Given the description of an element on the screen output the (x, y) to click on. 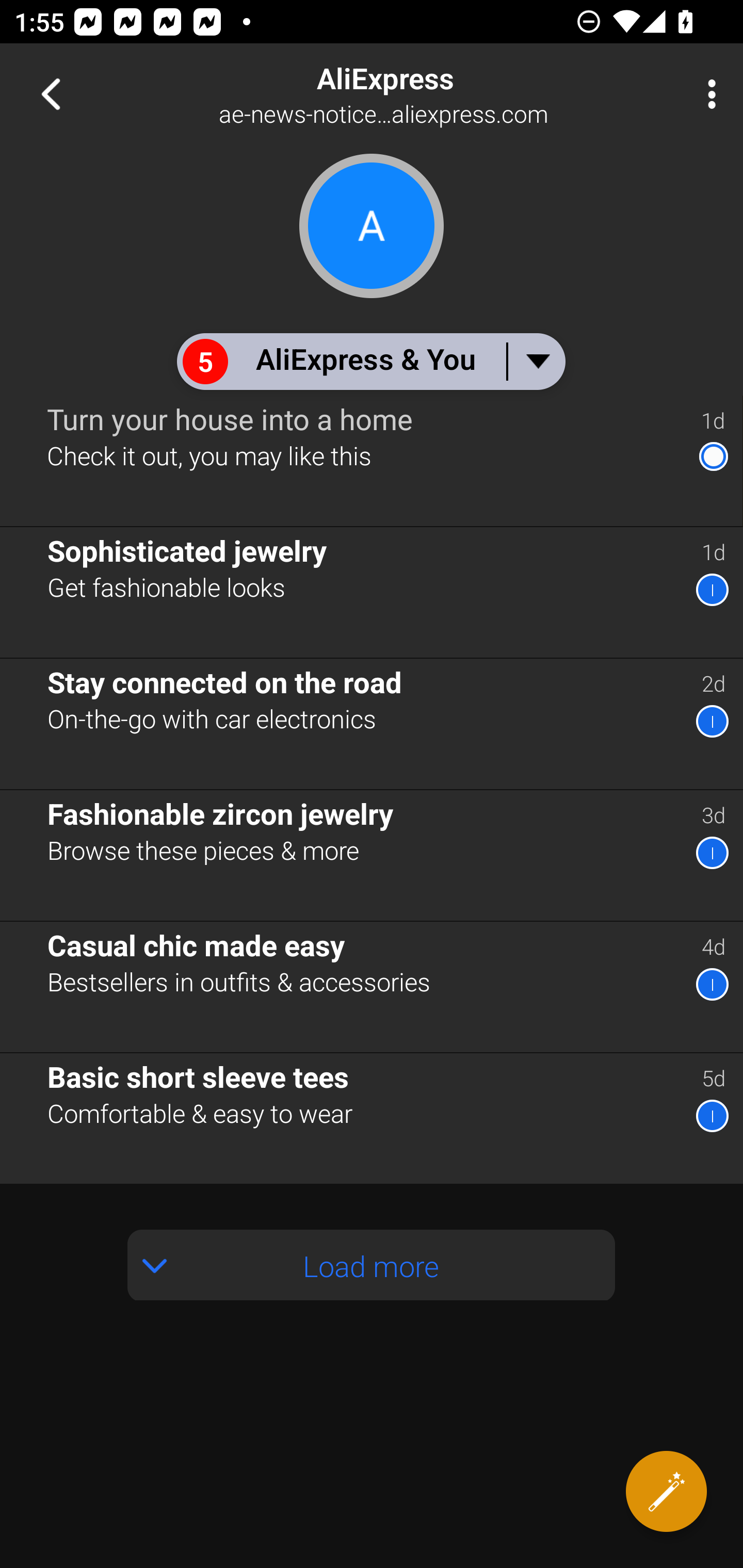
Navigate up (50, 93)
AliExpress ae-news-notice03@mail.aliexpress.com (436, 93)
More Options (706, 93)
5 AliExpress & You (370, 361)
Load more (371, 1264)
